Given the description of an element on the screen output the (x, y) to click on. 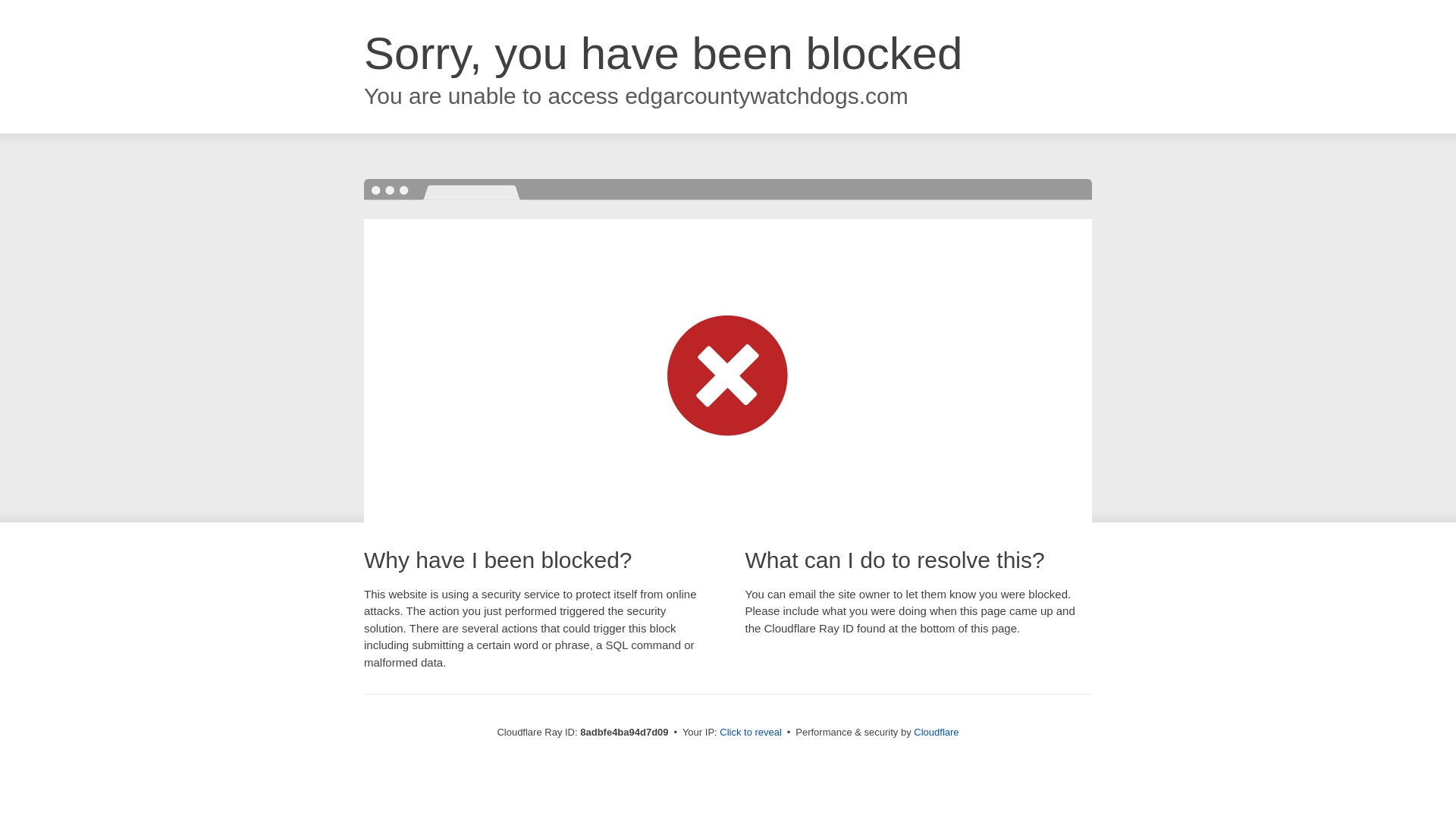
Click to reveal (750, 732)
Cloudflare (936, 731)
